Given the description of an element on the screen output the (x, y) to click on. 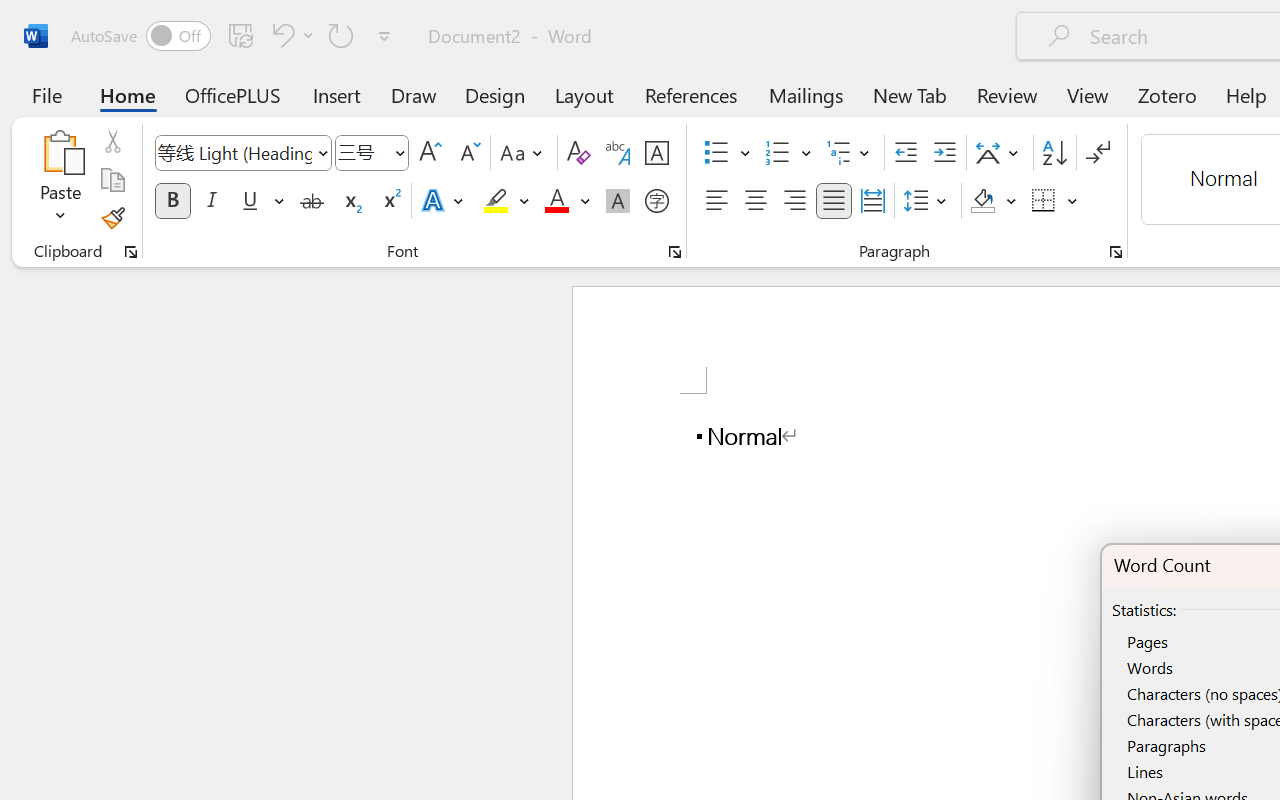
Font Color Red (556, 201)
AutoSave (140, 35)
File Tab (46, 94)
Font... (675, 252)
Strikethrough (312, 201)
Sort... (1054, 153)
Align Left (716, 201)
Line and Paragraph Spacing (927, 201)
Subscript (350, 201)
Asian Layout (1000, 153)
Quick Access Toolbar (233, 36)
Clear Formatting (578, 153)
Borders (1044, 201)
Font (234, 152)
